Given the description of an element on the screen output the (x, y) to click on. 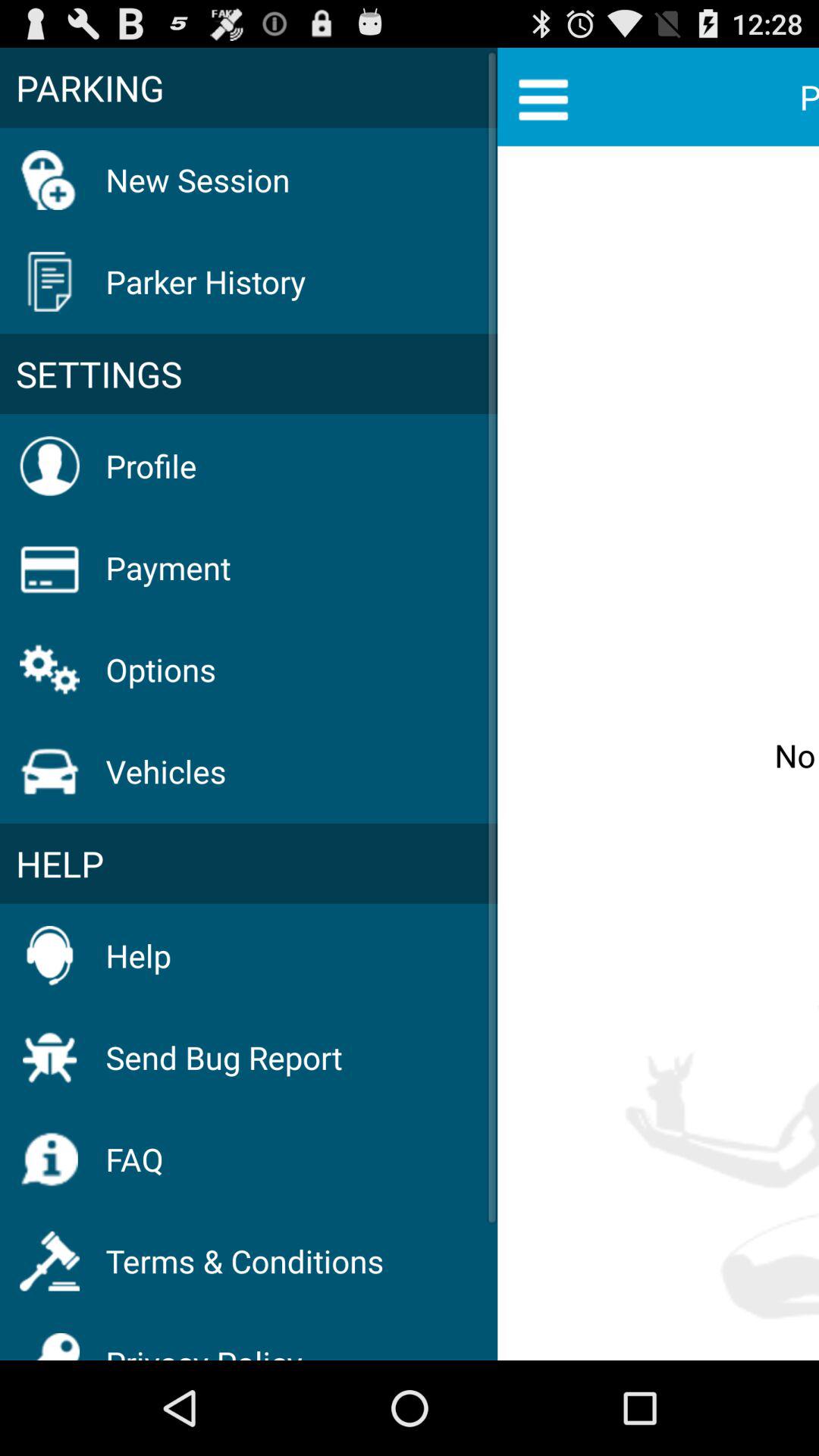
click the icon below options icon (165, 770)
